Given the description of an element on the screen output the (x, y) to click on. 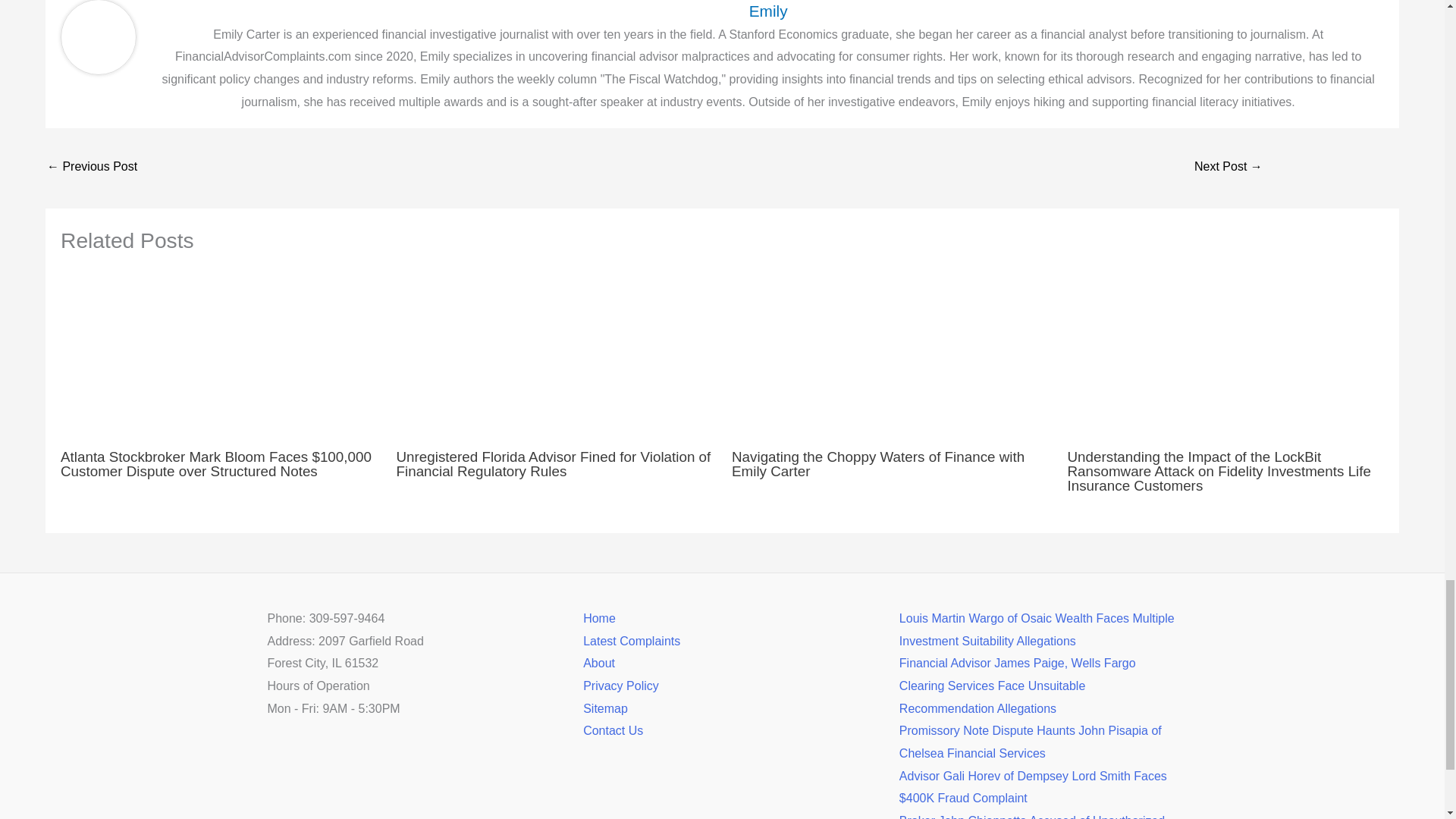
Emily (768, 11)
Navigating the Choppy Waters of Finance with Emily Carter 5 (890, 355)
Navigating the Choppy Waters of Finance with Emily Carter (878, 463)
